Given the description of an element on the screen output the (x, y) to click on. 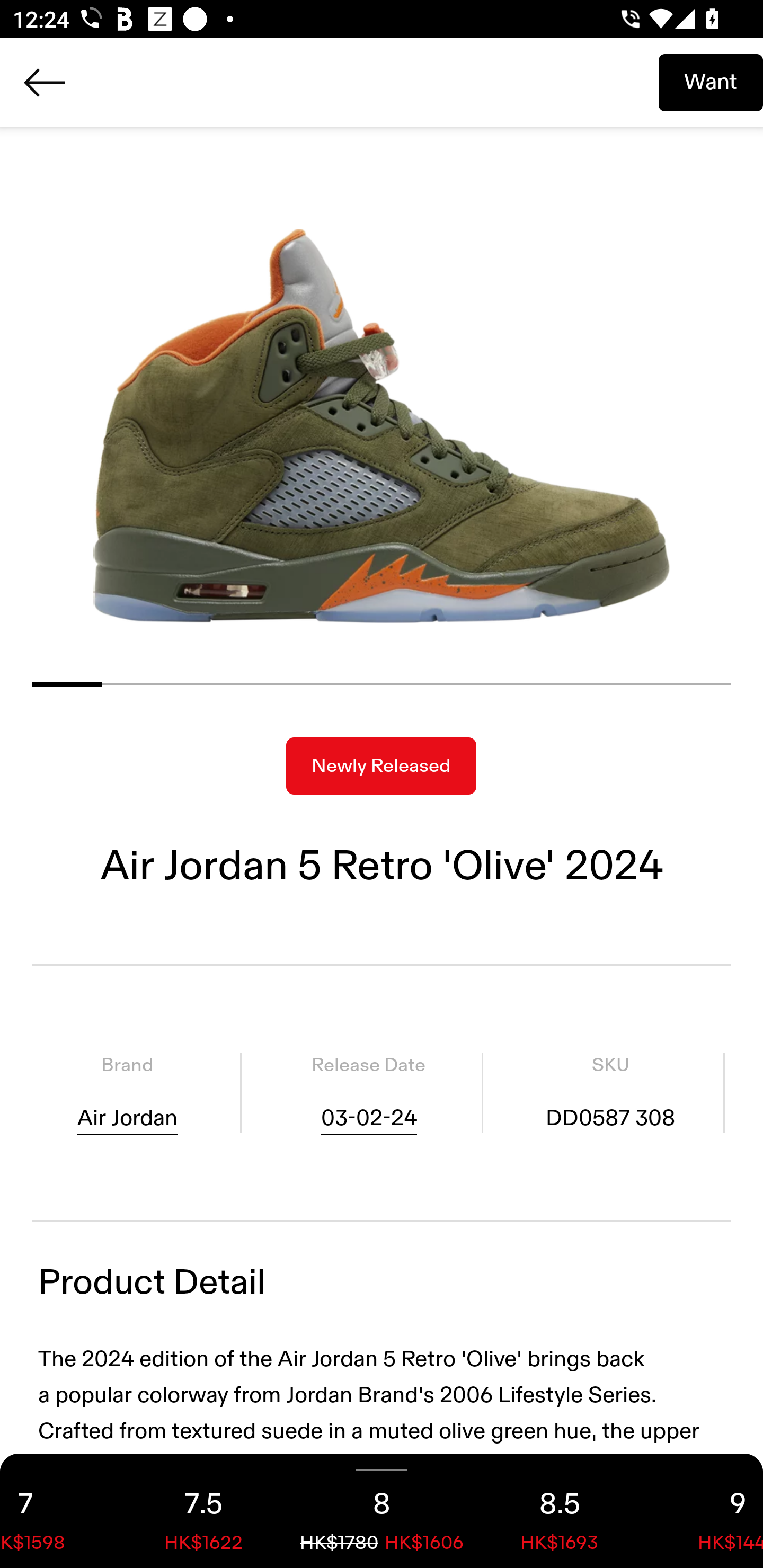
Want (710, 82)
Newly Released (381, 765)
Brand Air Jordan (126, 1092)
Release Date 03-02-24 (368, 1092)
SKU DD0587 308 (609, 1092)
7 HK$1598 (57, 1510)
7.5 HK$1622 (203, 1510)
8 HK$1780 HK$1606 (381, 1510)
8.5 HK$1693 (559, 1510)
9 HK$1440 (705, 1510)
